Given the description of an element on the screen output the (x, y) to click on. 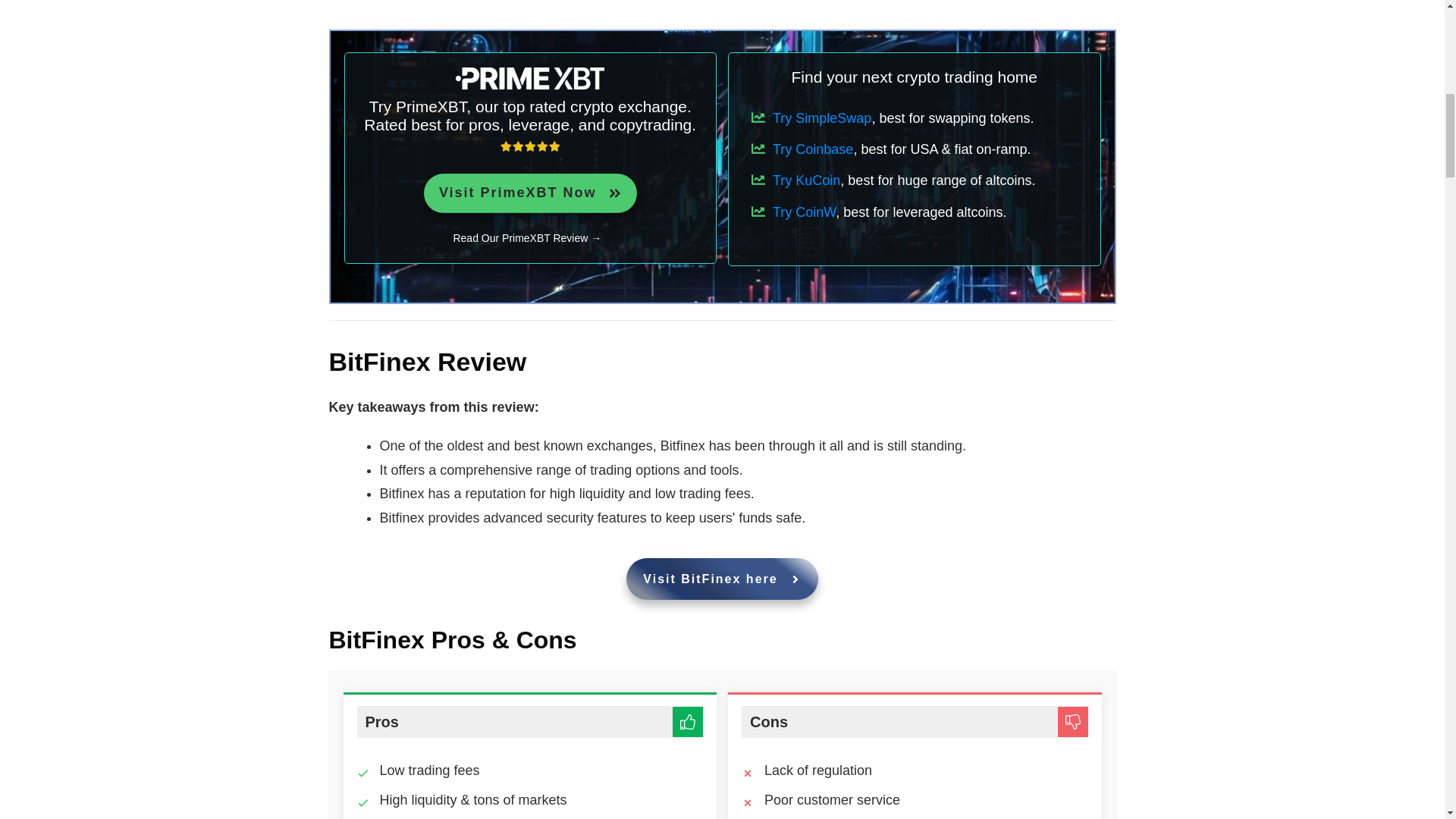
simpleswap (821, 118)
coinw (530, 192)
Coinbase (813, 149)
